Given the description of an element on the screen output the (x, y) to click on. 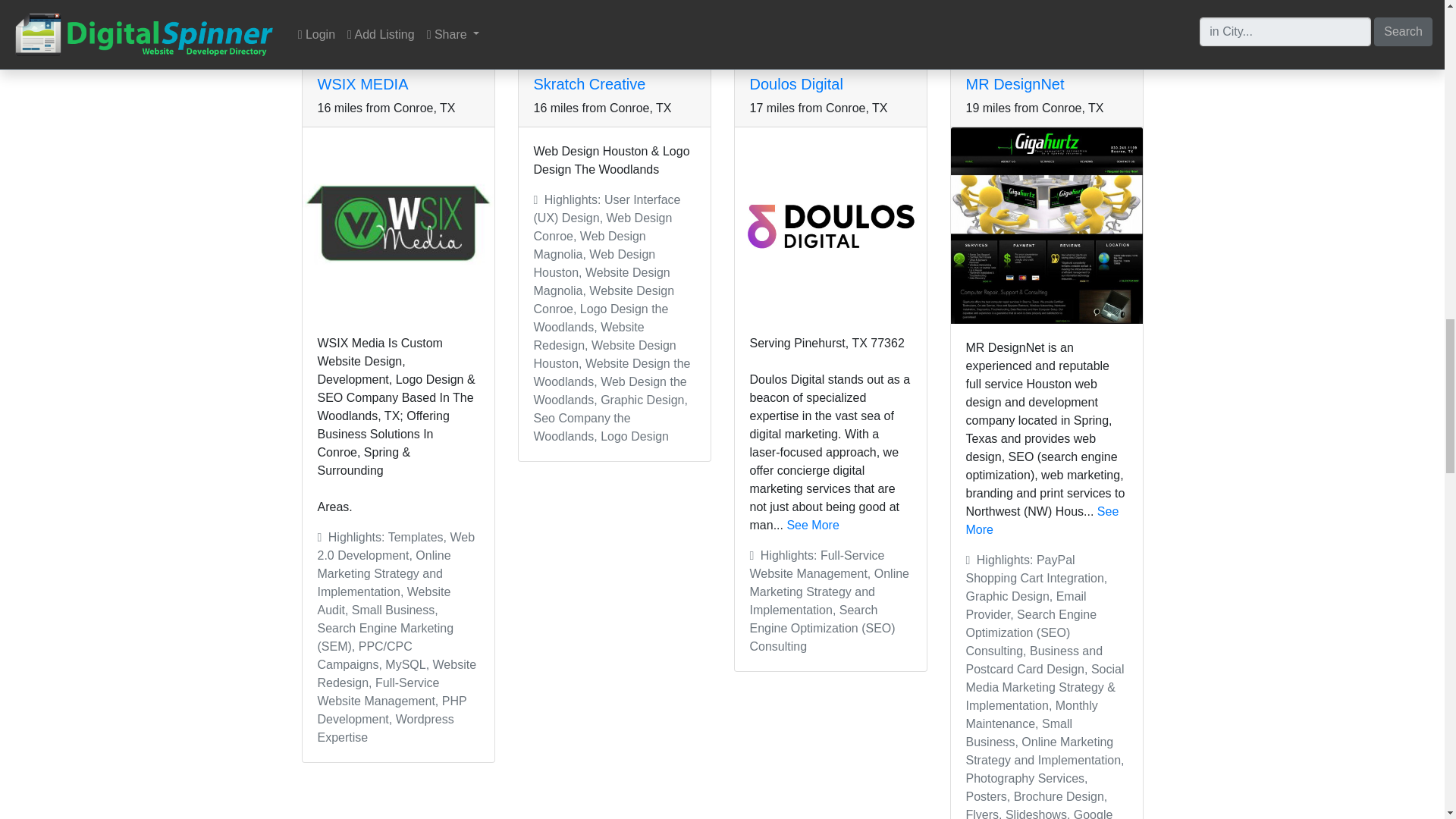
Doulos Digital (796, 84)
MR DesignNet (1015, 84)
See More (812, 524)
See More (1042, 520)
Skratch Creative (590, 84)
WSIX MEDIA (362, 84)
